Given the description of an element on the screen output the (x, y) to click on. 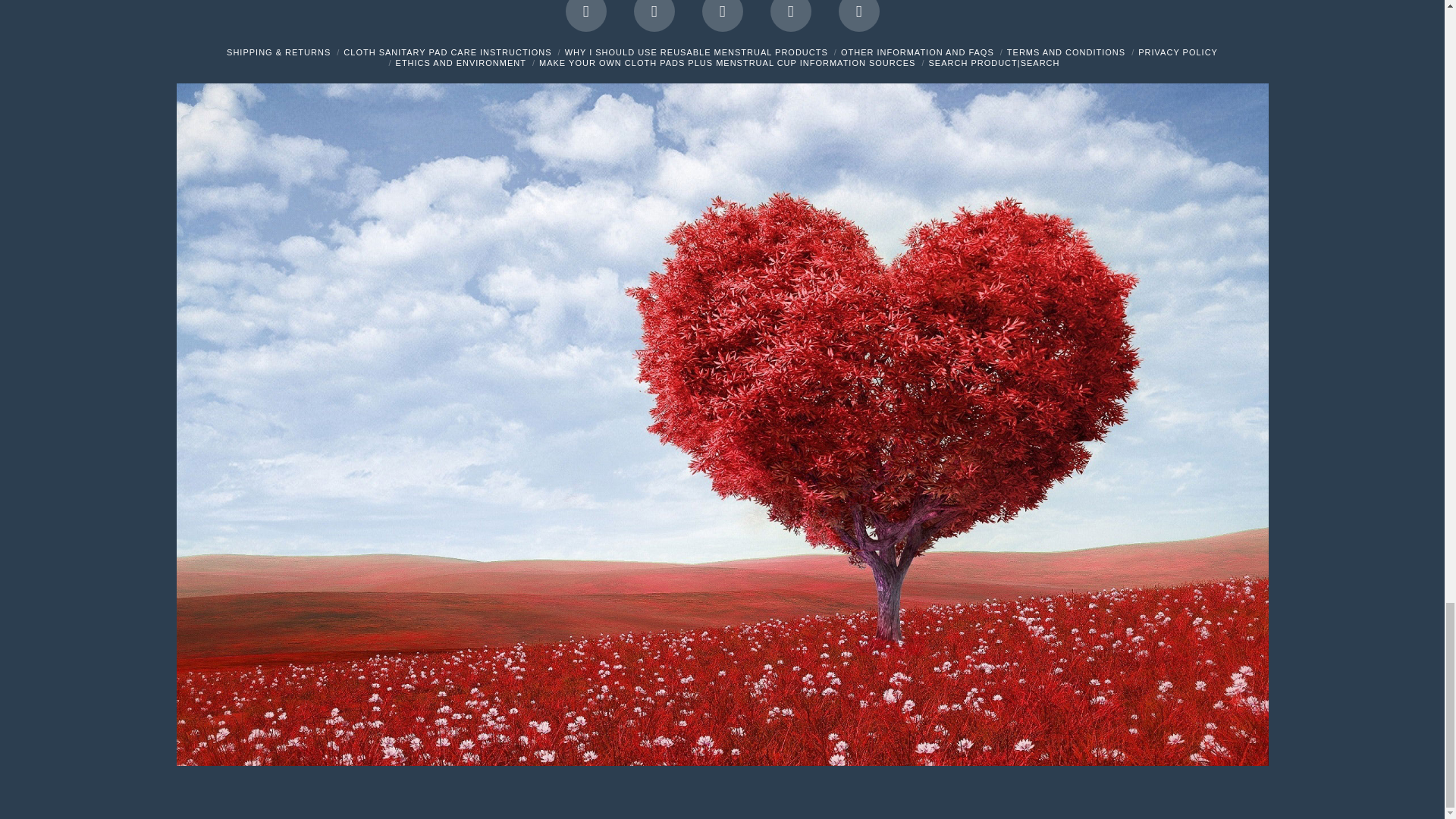
Facebook (586, 15)
Instagram (790, 15)
YouTube (721, 15)
Pinterest (858, 15)
